Given the description of an element on the screen output the (x, y) to click on. 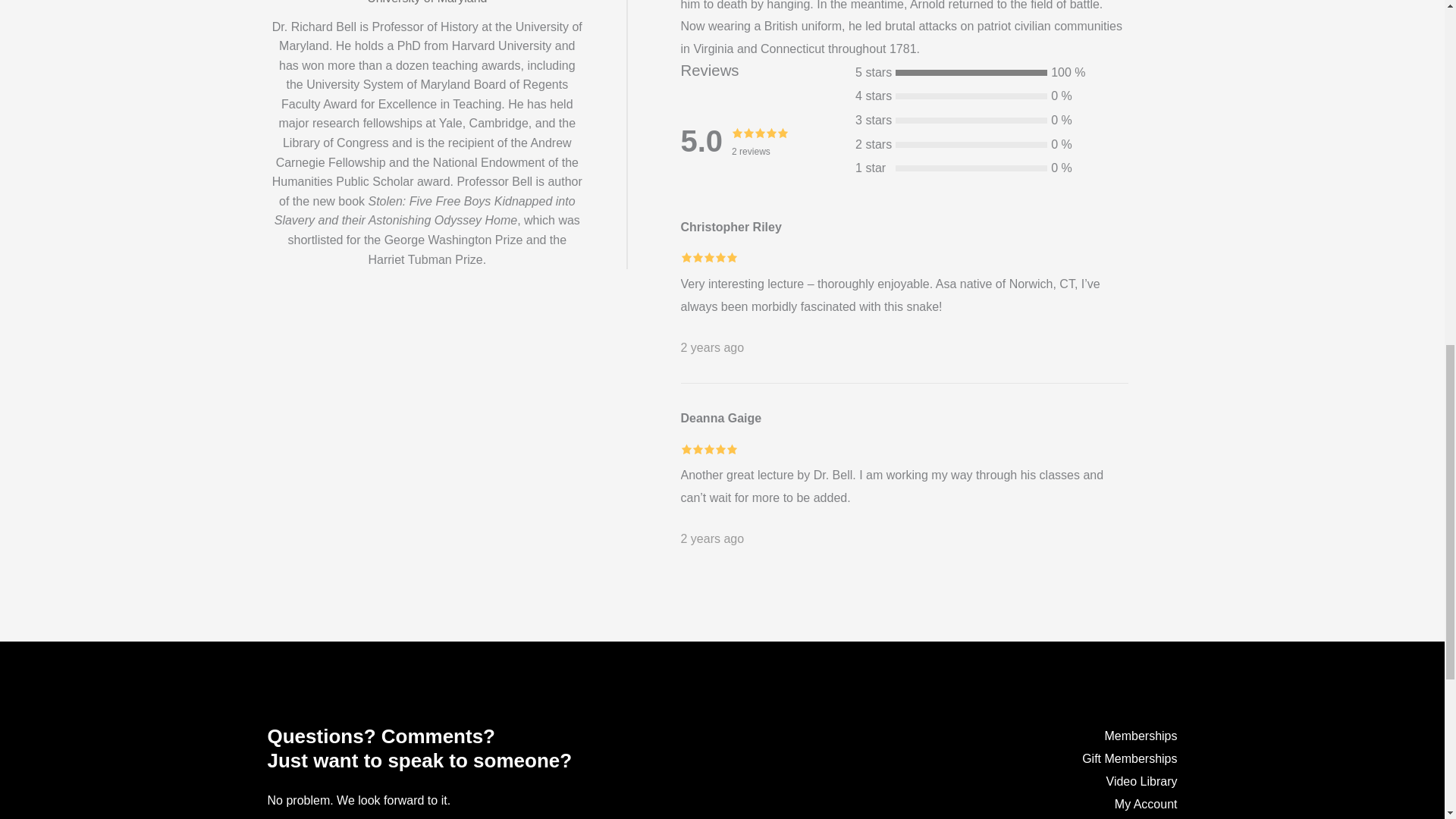
Memberships (1139, 735)
Video Library (1141, 780)
Gift Memberships (1128, 758)
My Account (1146, 803)
